Given the description of an element on the screen output the (x, y) to click on. 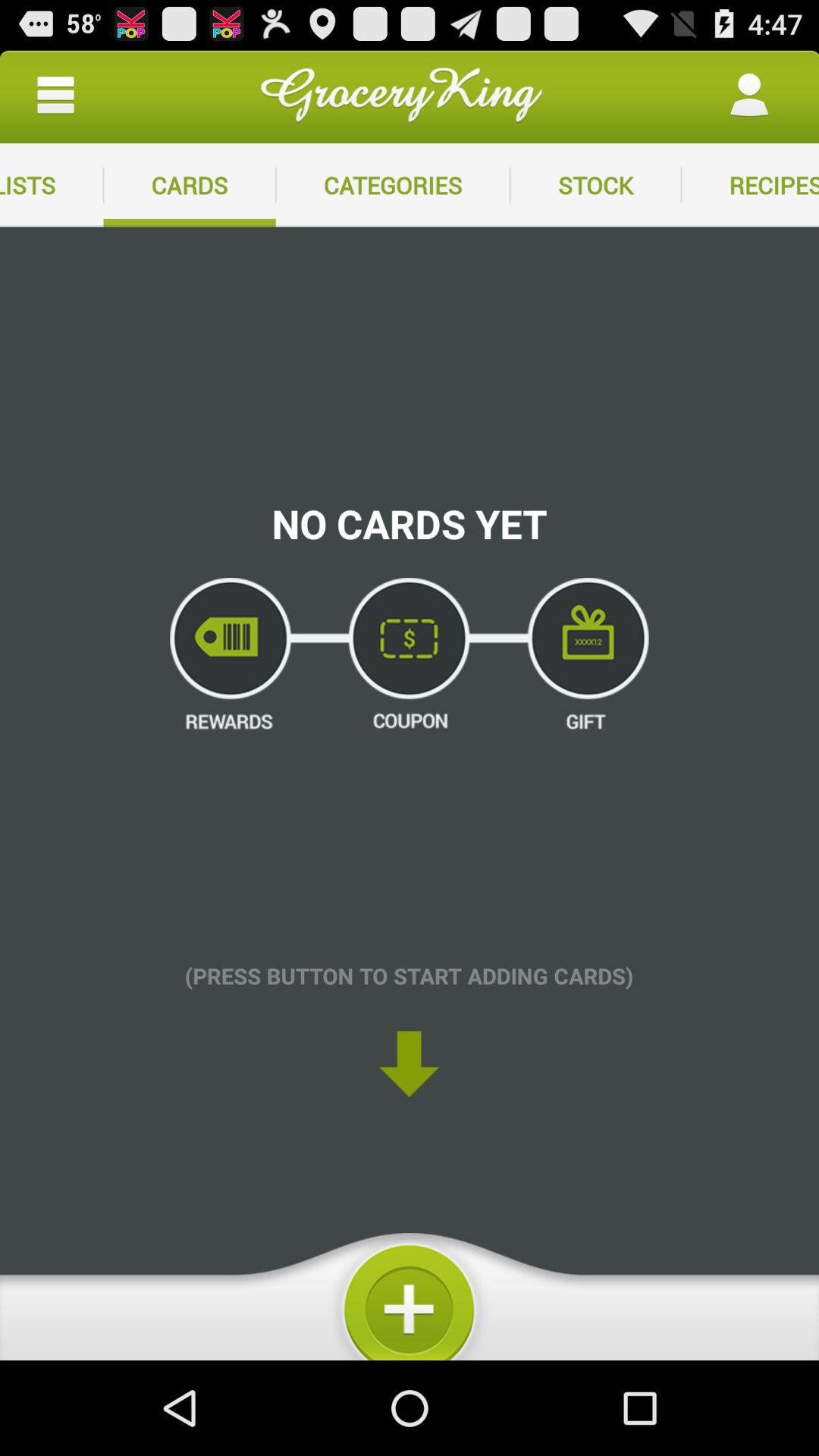
choose item next to recipes icon (595, 184)
